Given the description of an element on the screen output the (x, y) to click on. 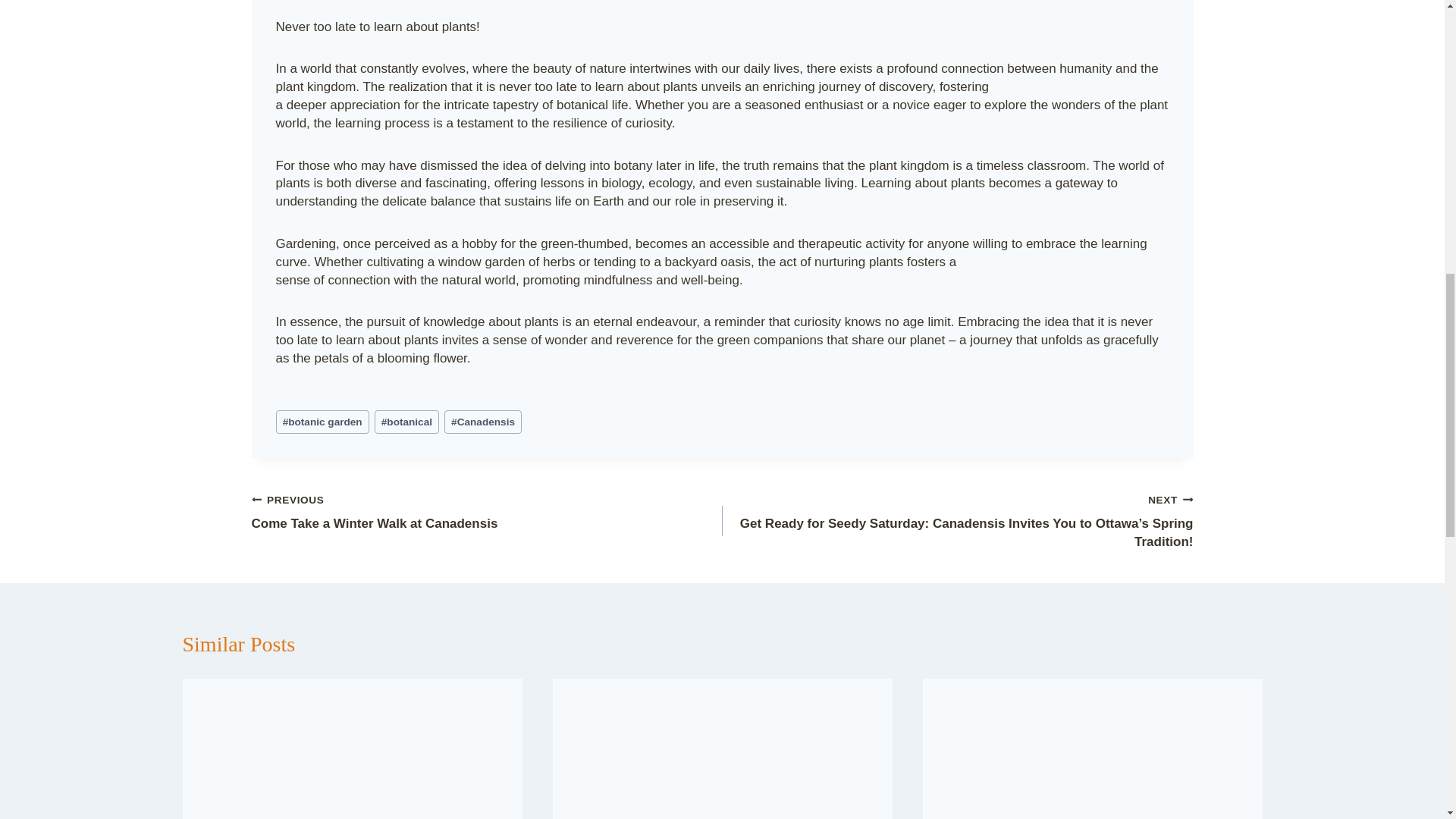
botanical (406, 422)
Canadensis (486, 511)
botanic garden (482, 422)
